Given the description of an element on the screen output the (x, y) to click on. 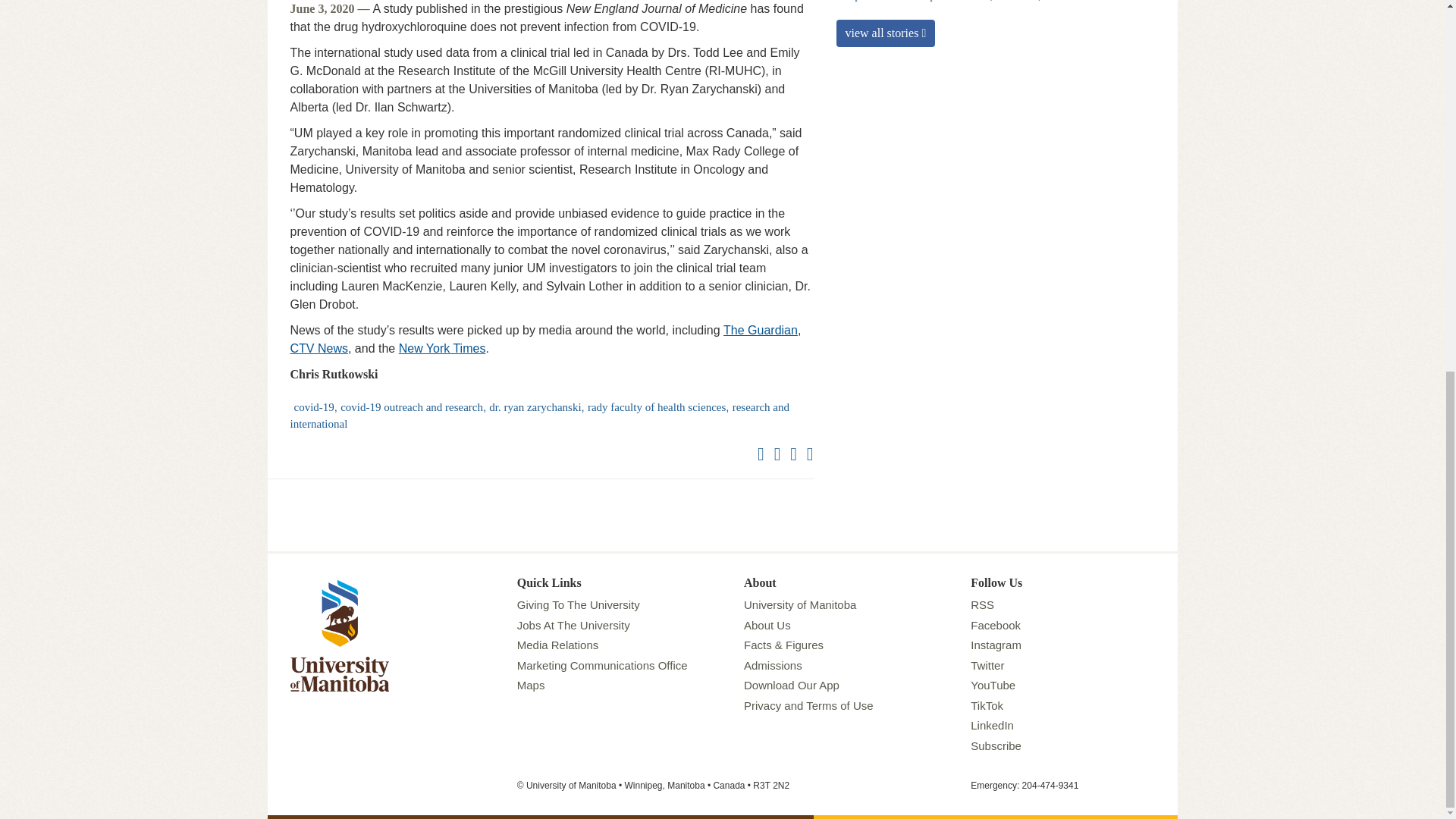
University of Manitoba (338, 581)
